Given the description of an element on the screen output the (x, y) to click on. 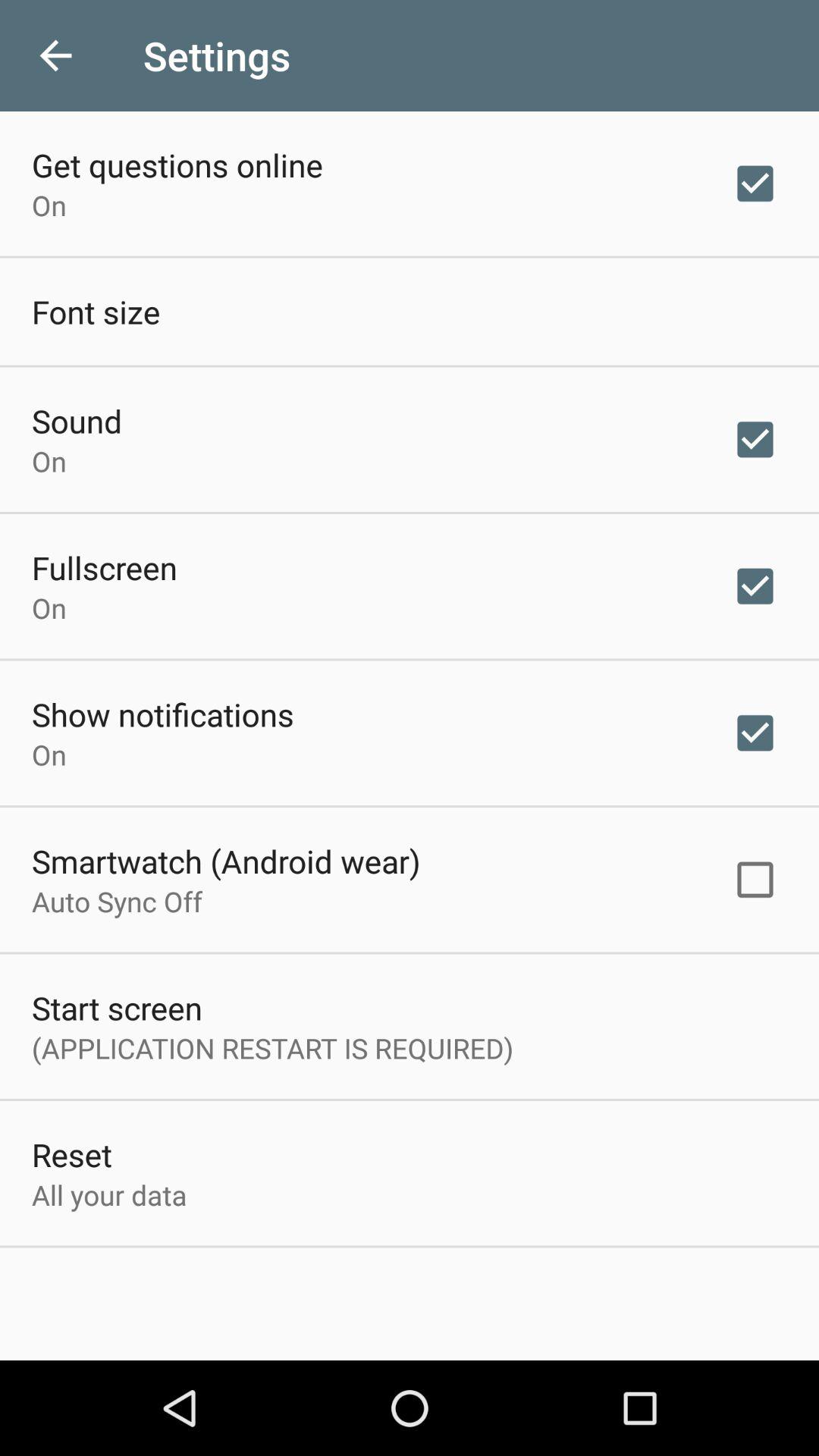
open auto sync off icon (116, 901)
